Given the description of an element on the screen output the (x, y) to click on. 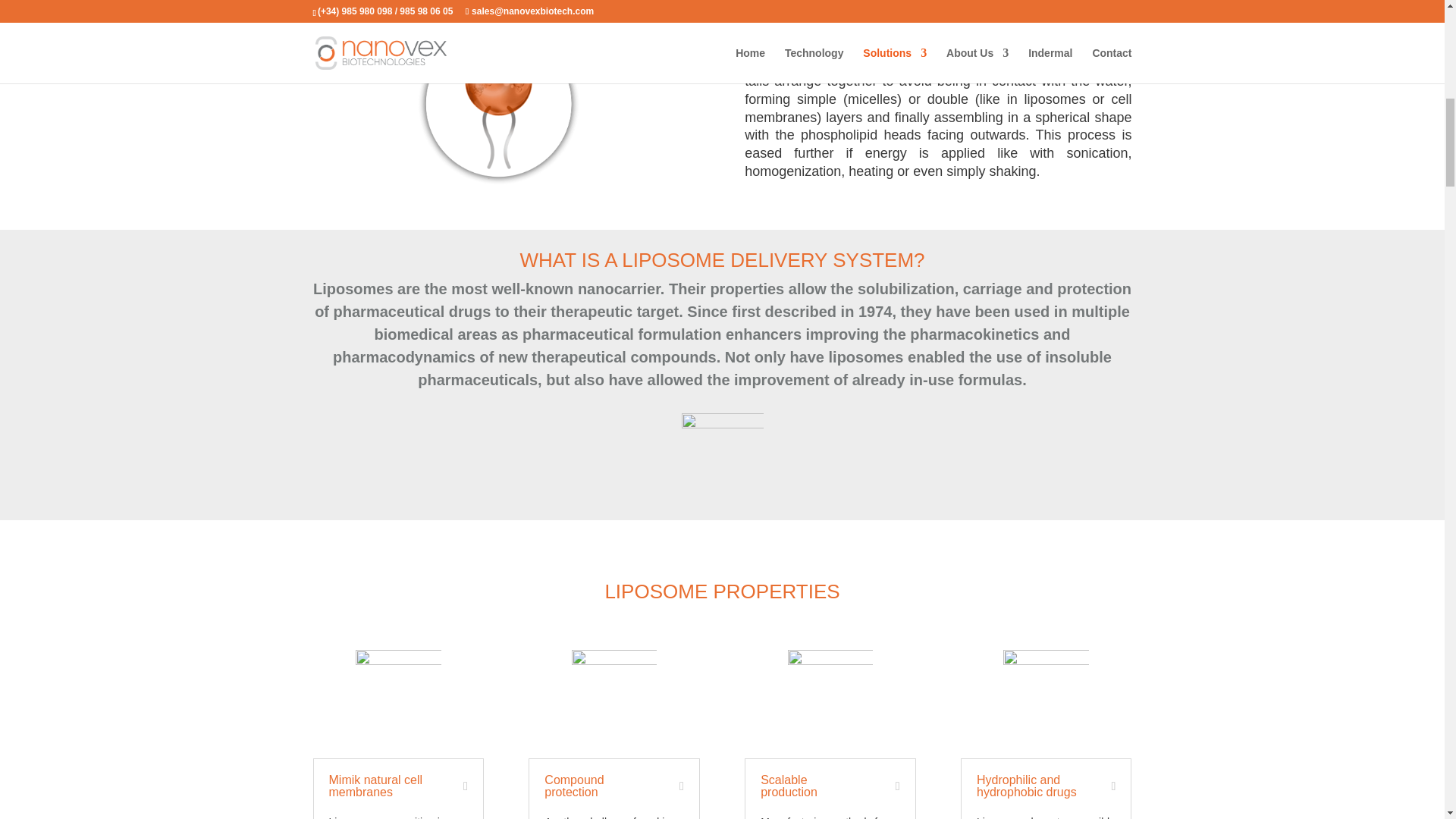
liposome-properties-icon (830, 692)
liposome-properties-icon (615, 692)
liposome-properties-icon (1046, 692)
liposomes-uses-and-applications-icons-activated (721, 454)
liposome-properties-icon (398, 692)
liposomes-what-is-a-liposome (506, 104)
